Given the description of an element on the screen output the (x, y) to click on. 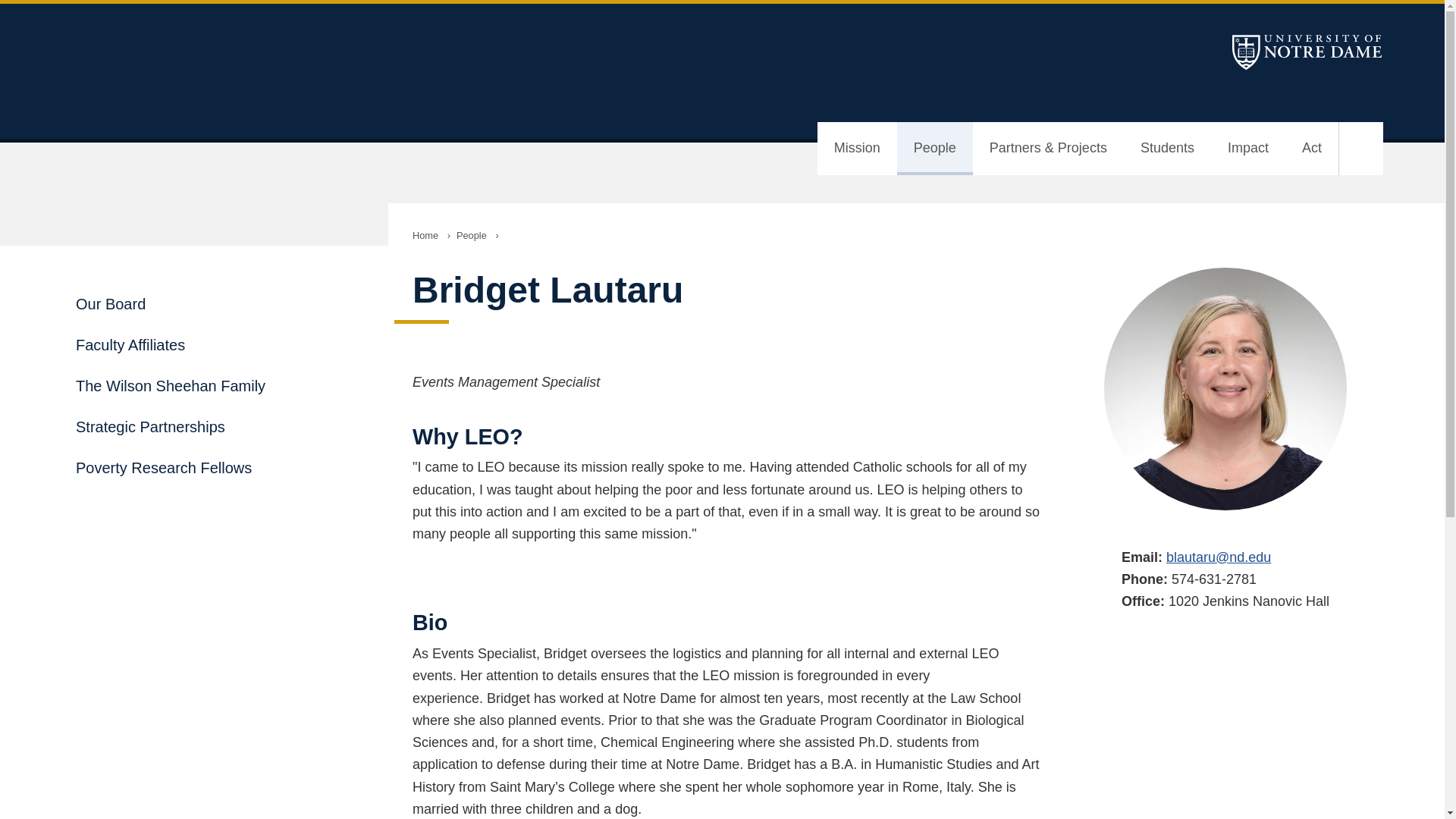
People (471, 235)
Act (1311, 148)
Home (425, 235)
Wilson Sheehan Lab for Economic Opportunities (193, 70)
People (934, 148)
Mission (856, 148)
Students (1167, 148)
University of Notre Dame (1307, 51)
Impact (1248, 148)
